Given the description of an element on the screen output the (x, y) to click on. 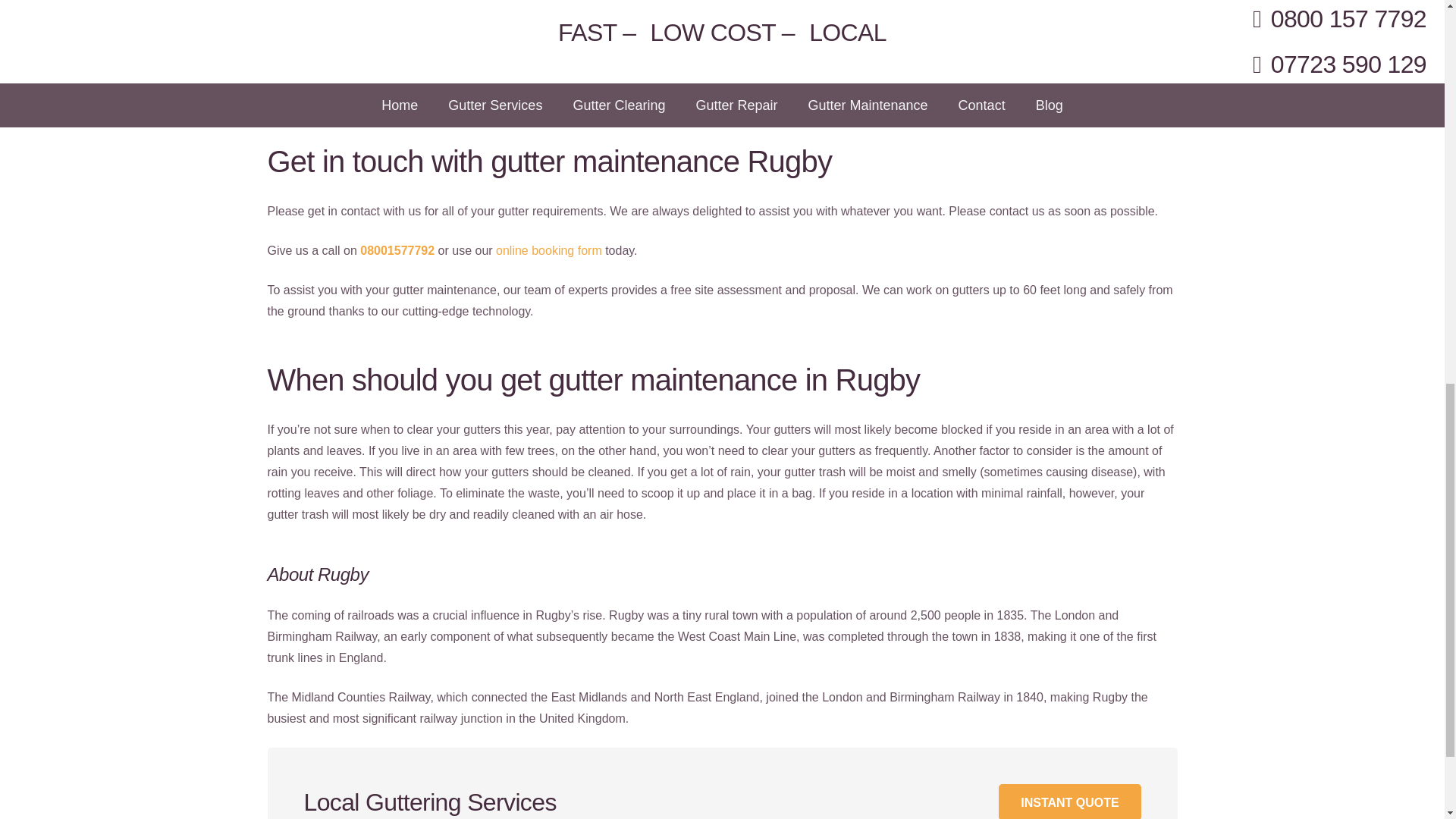
08001577792 (396, 250)
INSTANT QUOTE (1069, 801)
Back to top (1413, 30)
Instant Quote (1069, 801)
online booking form (549, 250)
